Given the description of an element on the screen output the (x, y) to click on. 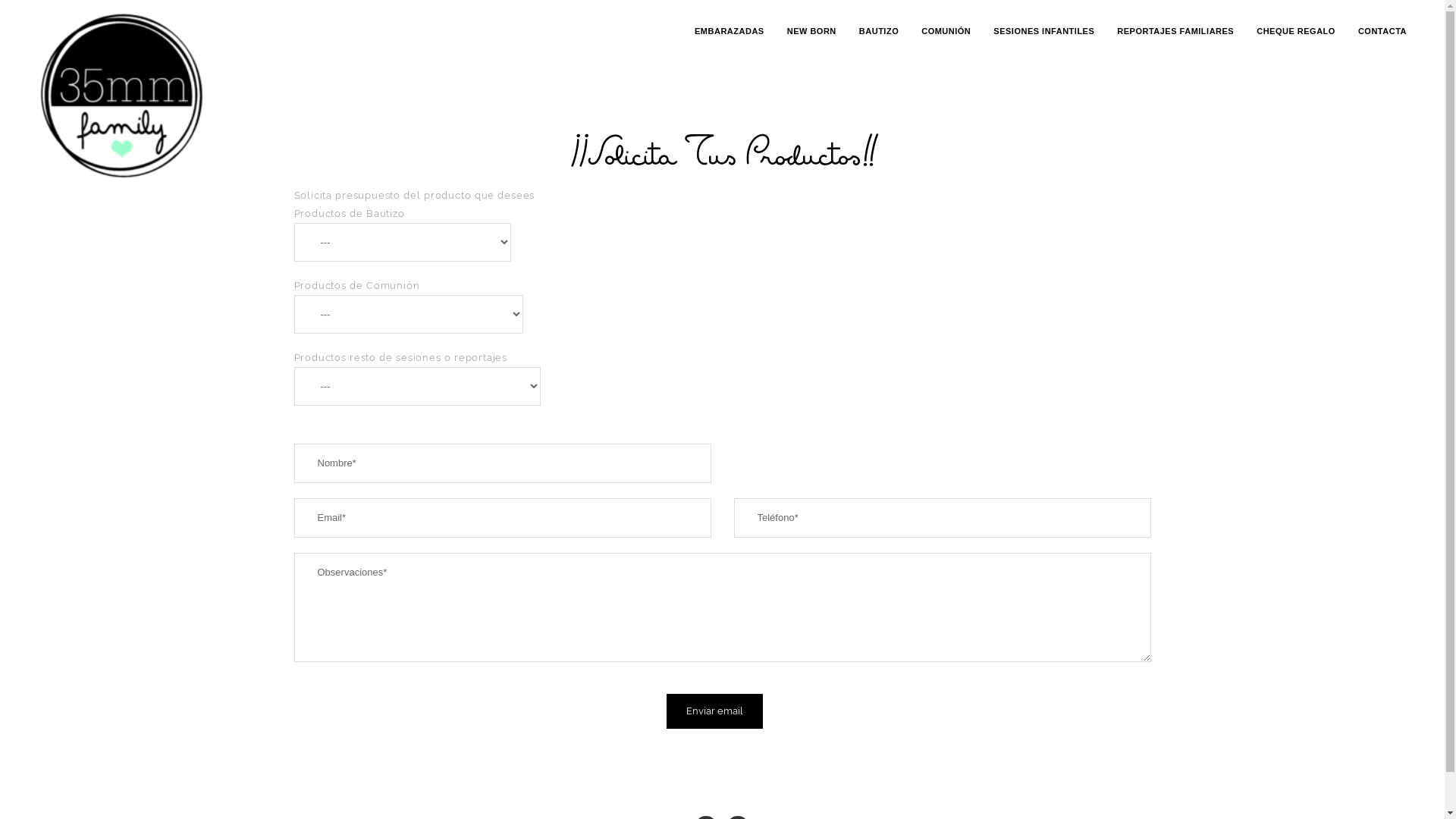
CHEQUE REGALO Element type: text (1295, 30)
SESIONES INFANTILES Element type: text (1043, 30)
CONTACTA Element type: text (1382, 30)
NEW BORN Element type: text (811, 30)
Enviar email Element type: text (714, 710)
BAUTIZO Element type: text (878, 30)
REPORTAJES FAMILIARES Element type: text (1175, 30)
EMBARAZADAS Element type: text (729, 30)
